Given the description of an element on the screen output the (x, y) to click on. 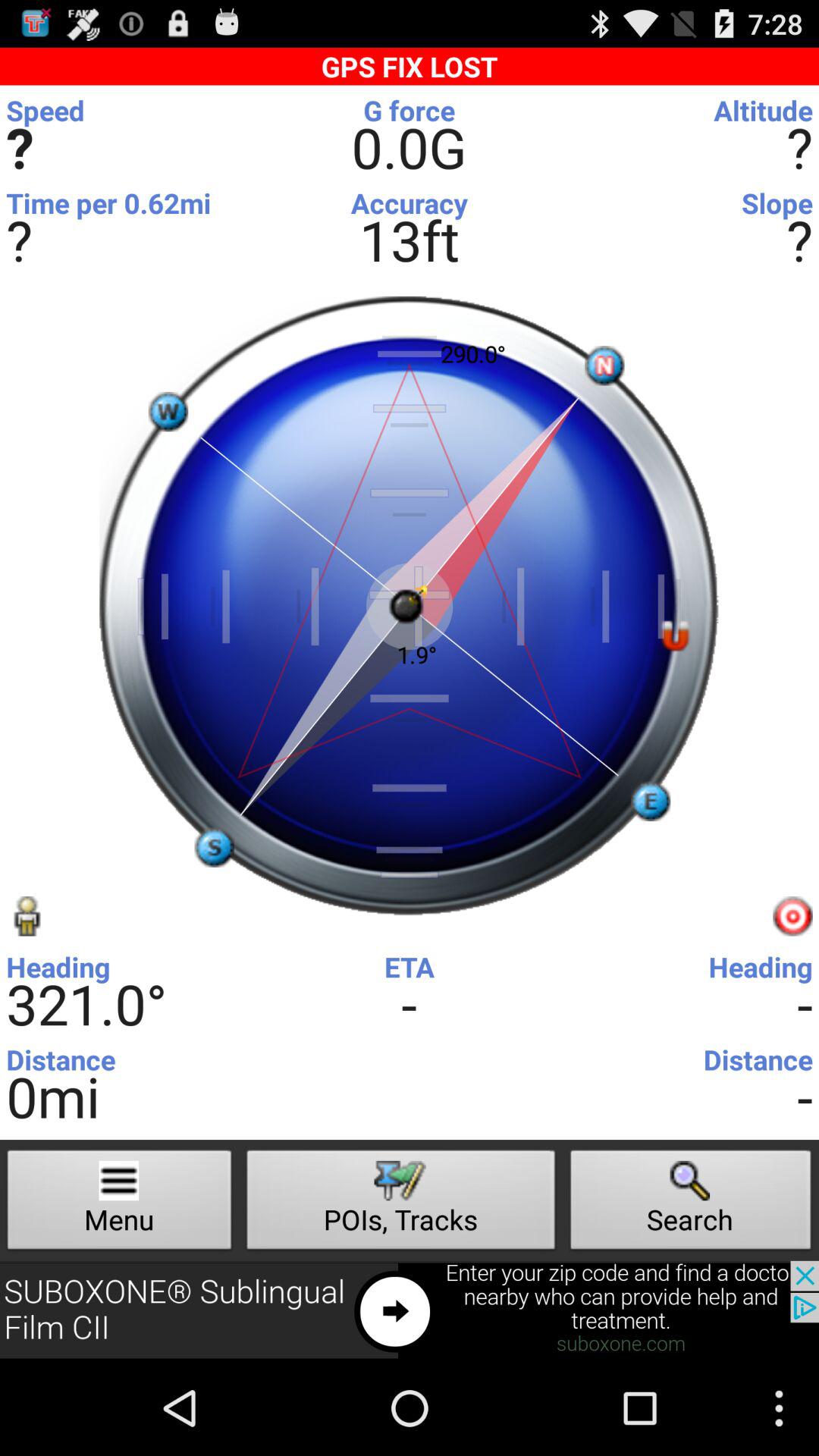
time speed selection (406, 114)
